Given the description of an element on the screen output the (x, y) to click on. 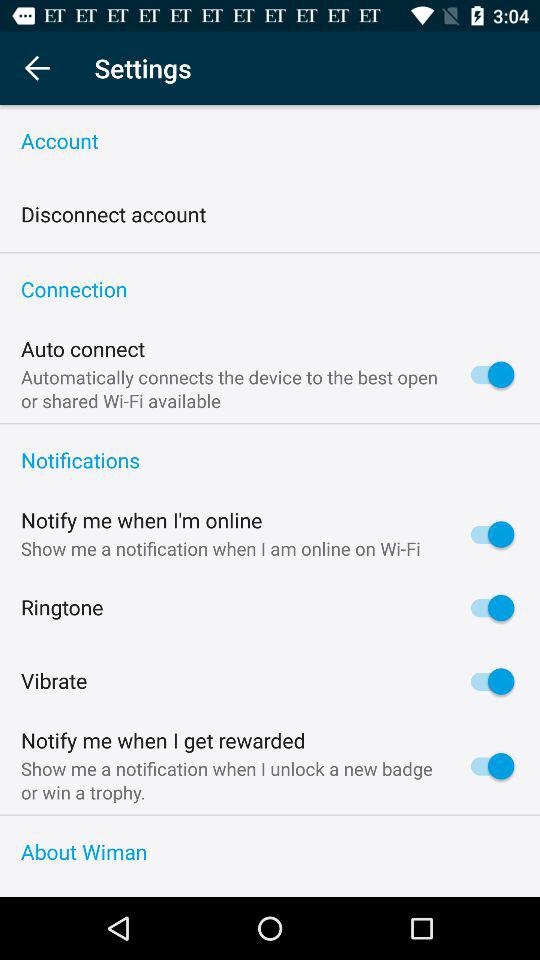
flip until the disconnect account item (113, 214)
